Given the description of an element on the screen output the (x, y) to click on. 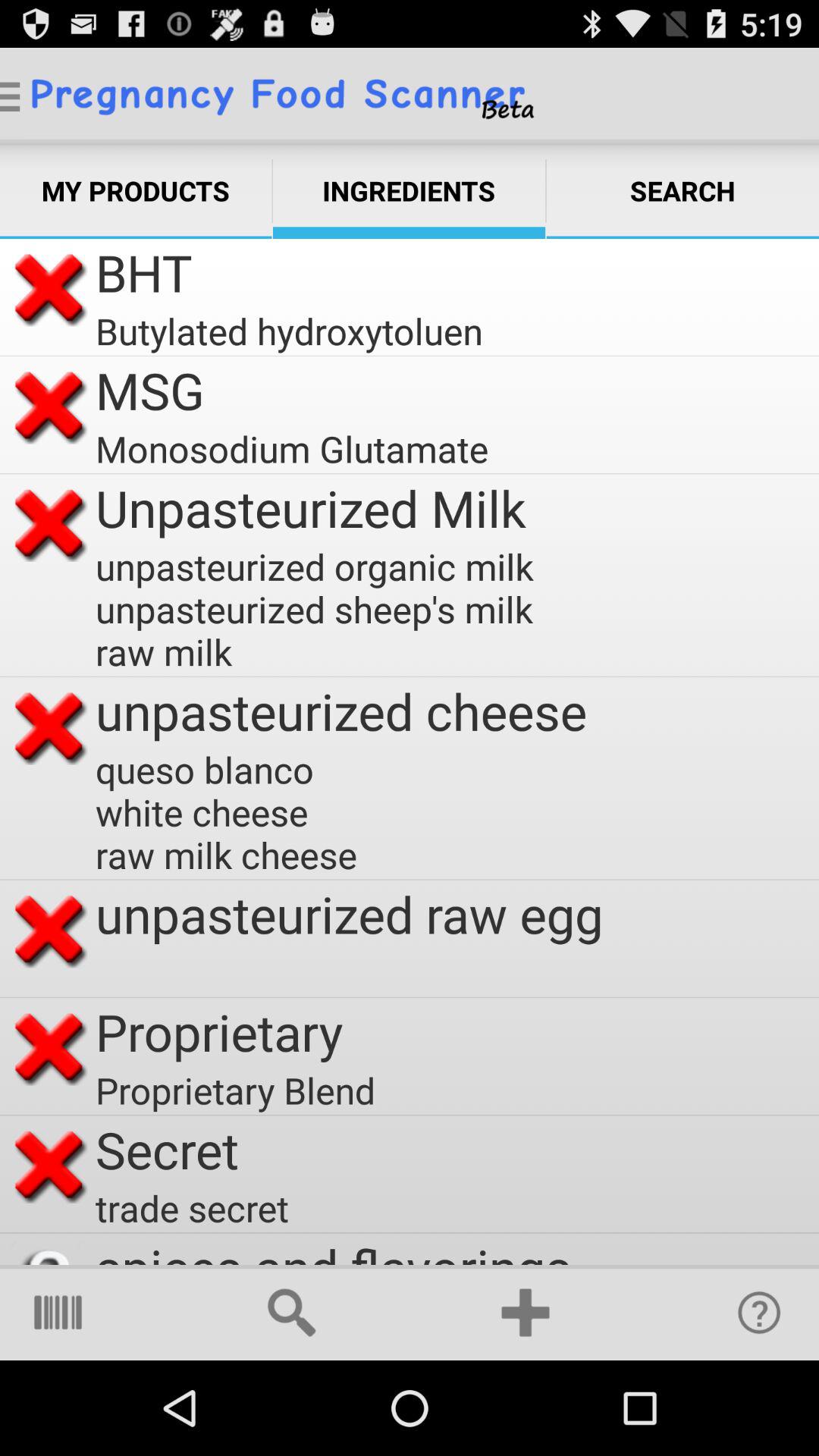
click the icon below secret icon (191, 1207)
